Given the description of an element on the screen output the (x, y) to click on. 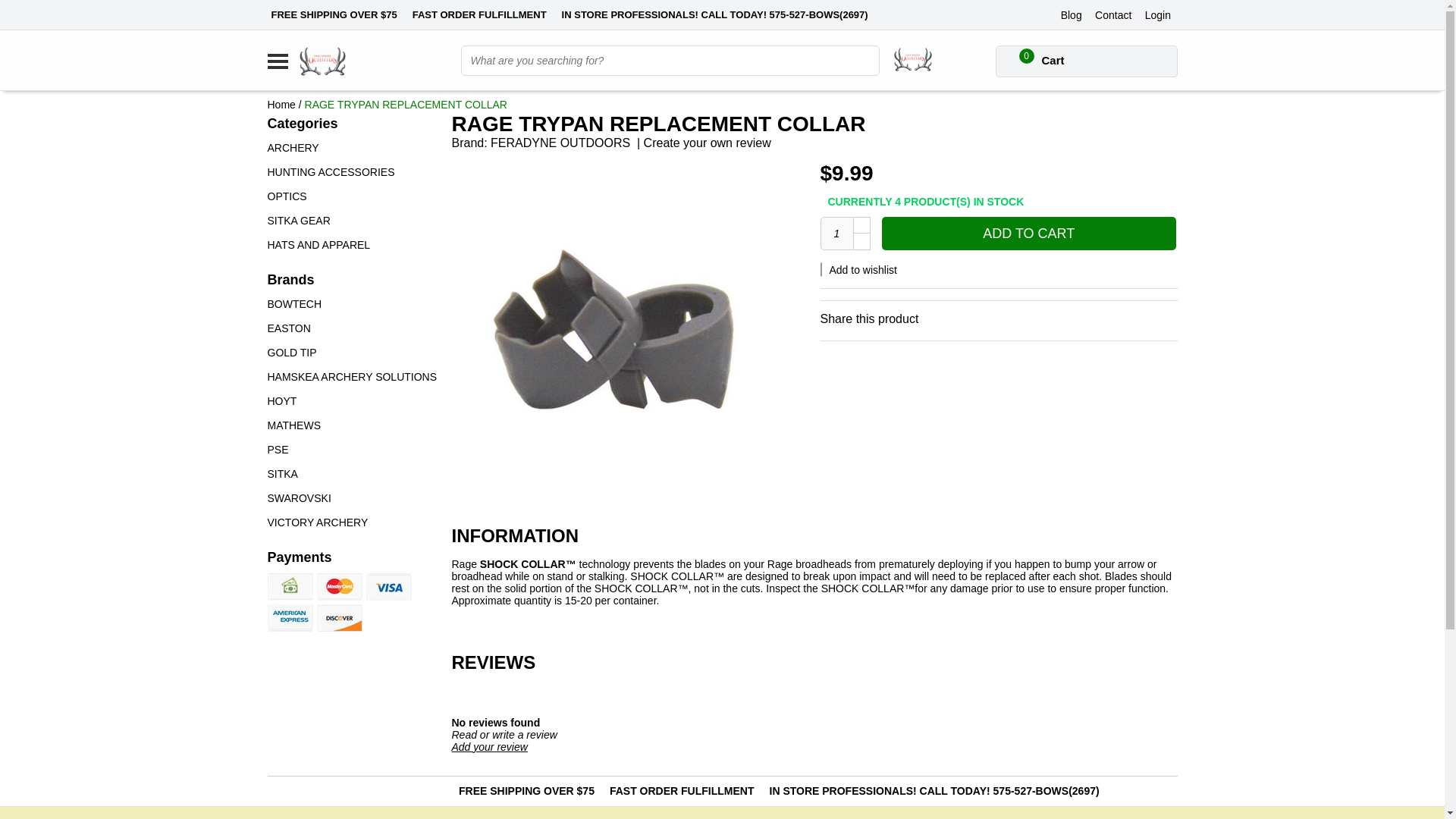
1 (837, 233)
